Given the description of an element on the screen output the (x, y) to click on. 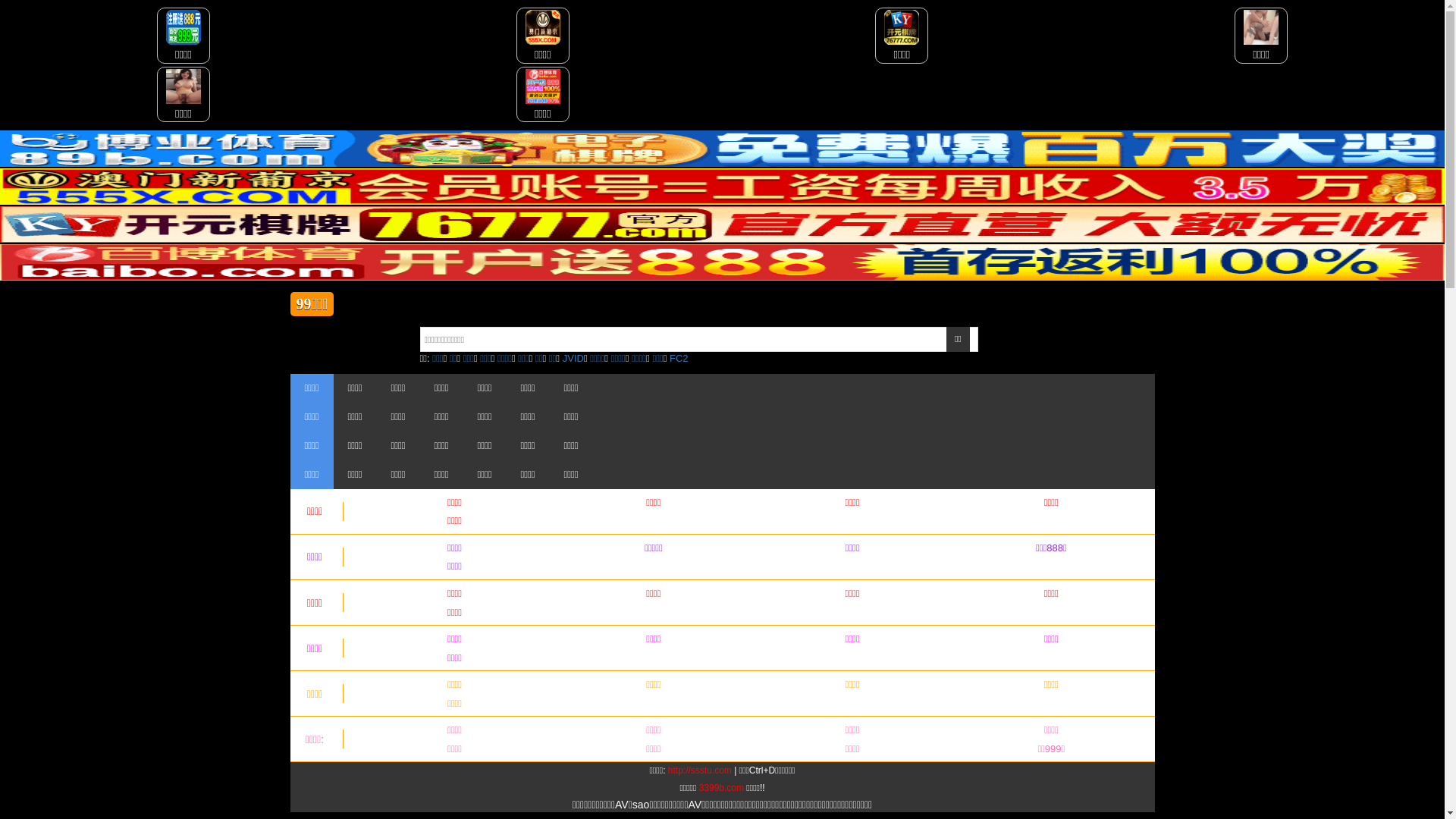
JVID Element type: text (572, 358)
FC2 Element type: text (678, 358)
